Given the description of an element on the screen output the (x, y) to click on. 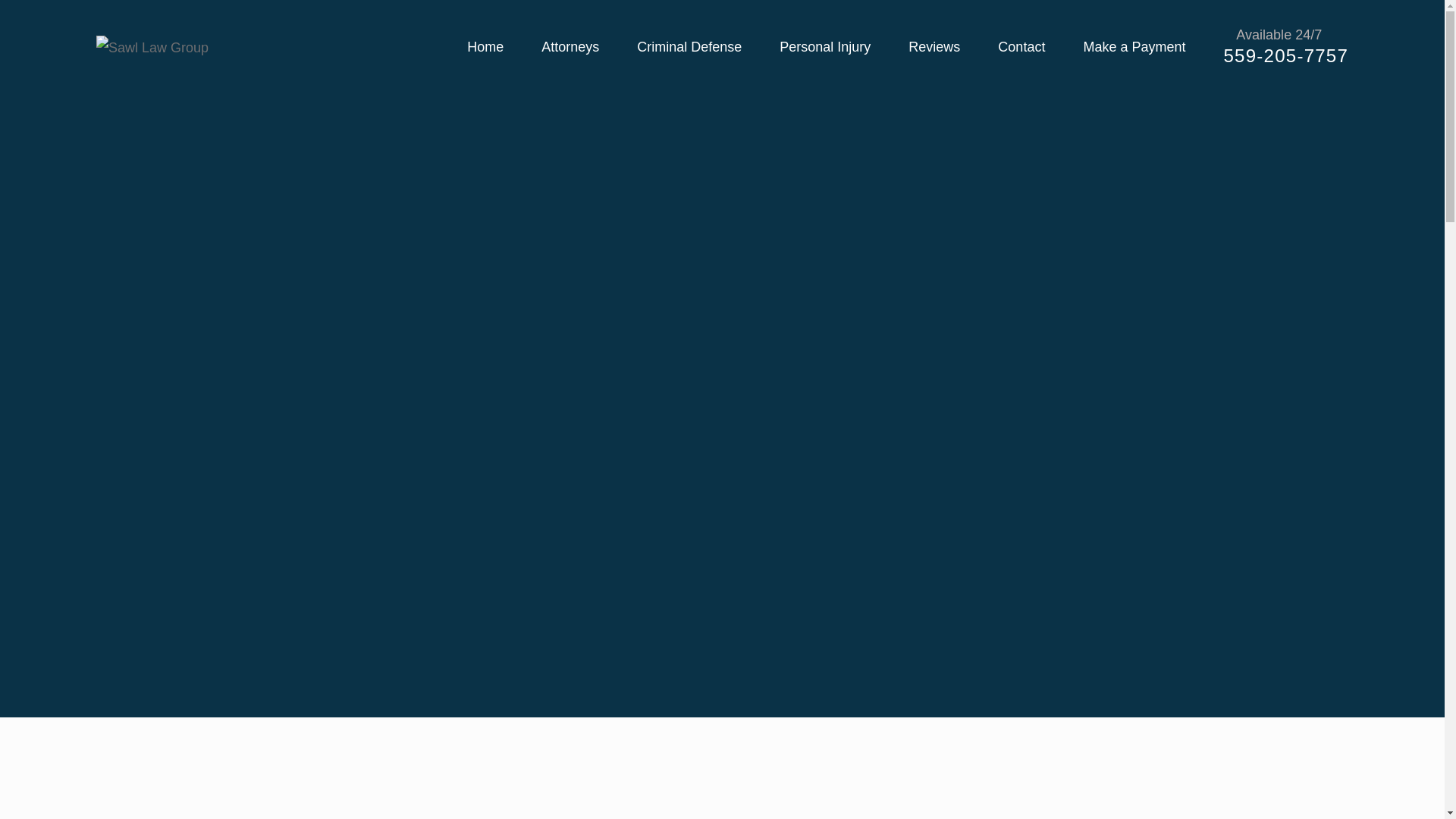
Attorneys (569, 47)
Home (152, 47)
Criminal Defense (689, 47)
Personal Injury (824, 47)
